Given the description of an element on the screen output the (x, y) to click on. 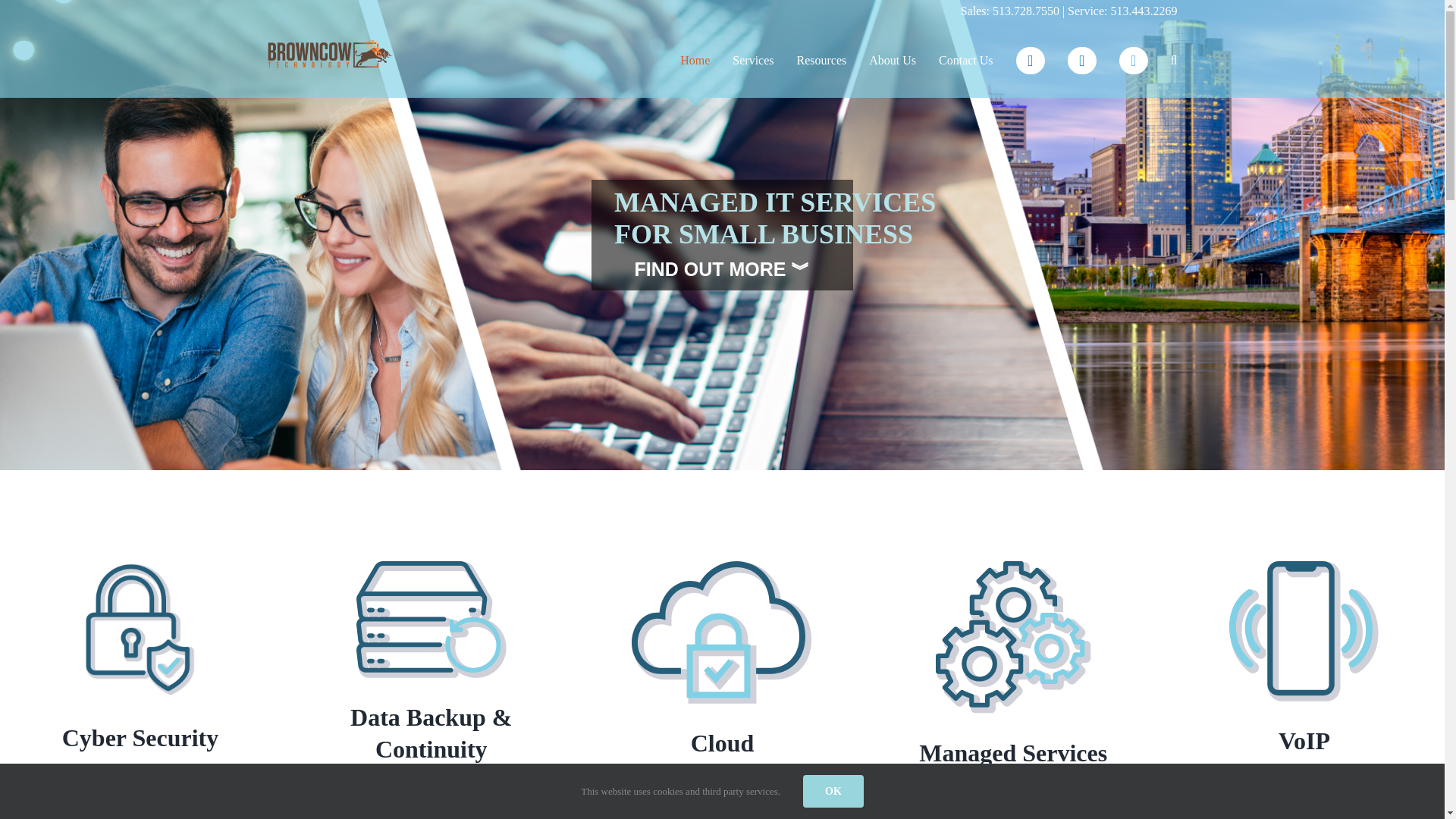
Managed-Services (1013, 637)
Cloud (721, 632)
VOIP (1303, 631)
